Given the description of an element on the screen output the (x, y) to click on. 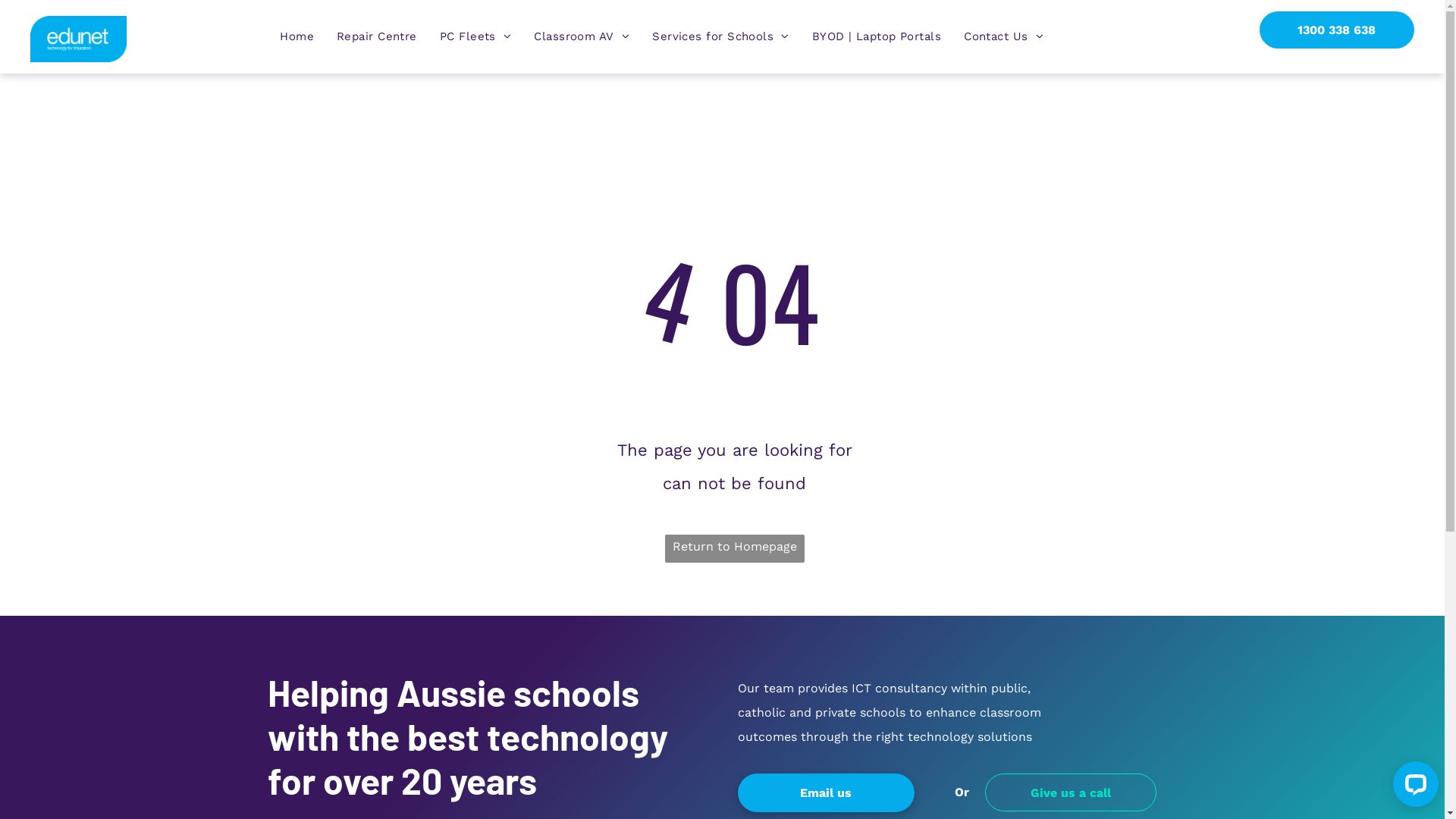
Services for Schools Element type: text (720, 35)
Return to Homepage Element type: text (734, 548)
Give us a call Element type: text (1070, 792)
Email us Element type: text (825, 792)
Home Element type: text (296, 35)
Contact Us Element type: text (1003, 35)
PC Fleets Element type: text (475, 35)
BYOD | Laptop Portals Element type: text (876, 35)
Classroom AV Element type: text (581, 35)
1300 338 638 Element type: text (1336, 29)
Repair Centre Element type: text (376, 35)
